Given the description of an element on the screen output the (x, y) to click on. 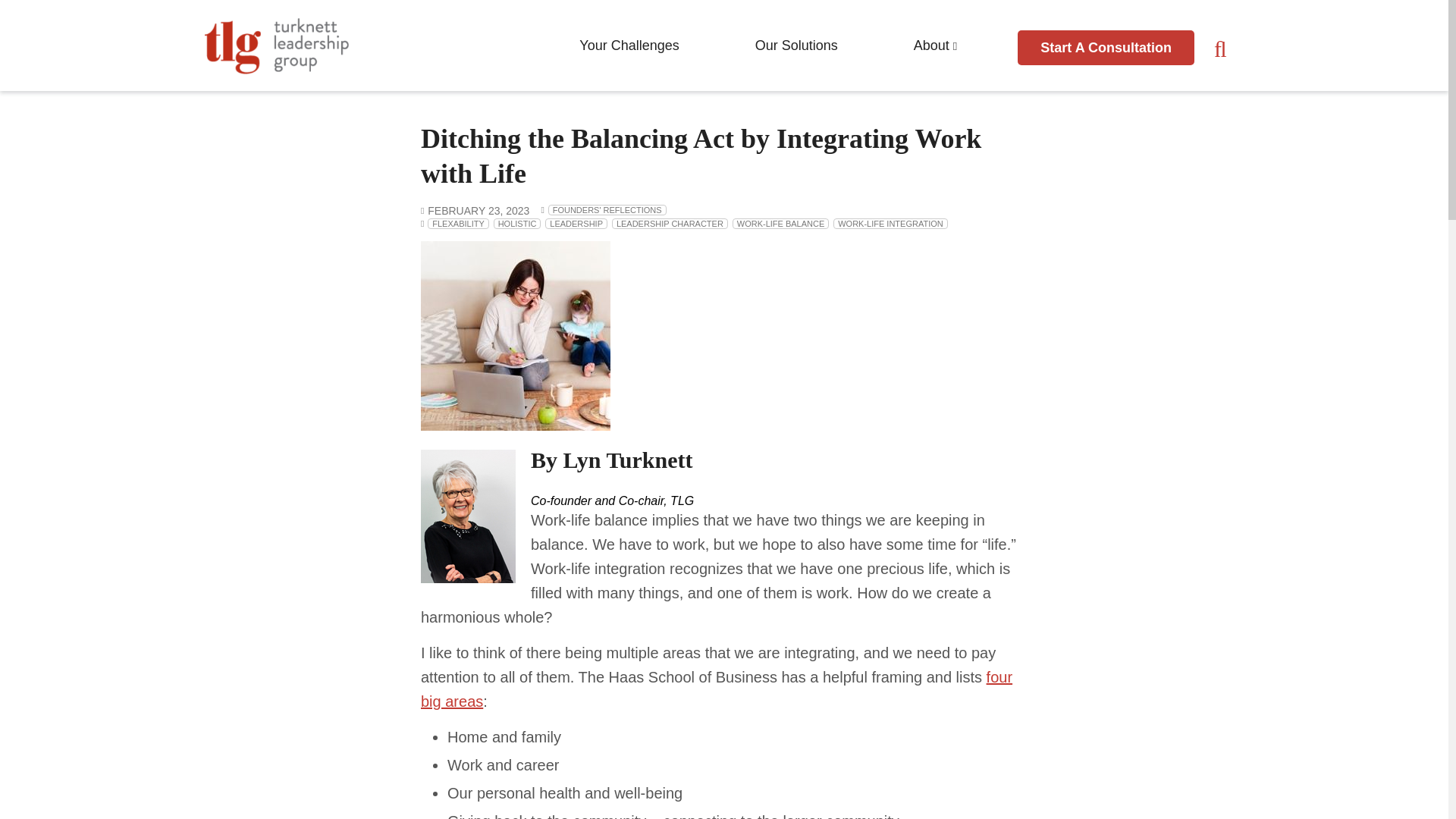
Your Challenges (628, 45)
Start A Consultation (1105, 47)
About (935, 45)
Our Solutions (796, 45)
